Given the description of an element on the screen output the (x, y) to click on. 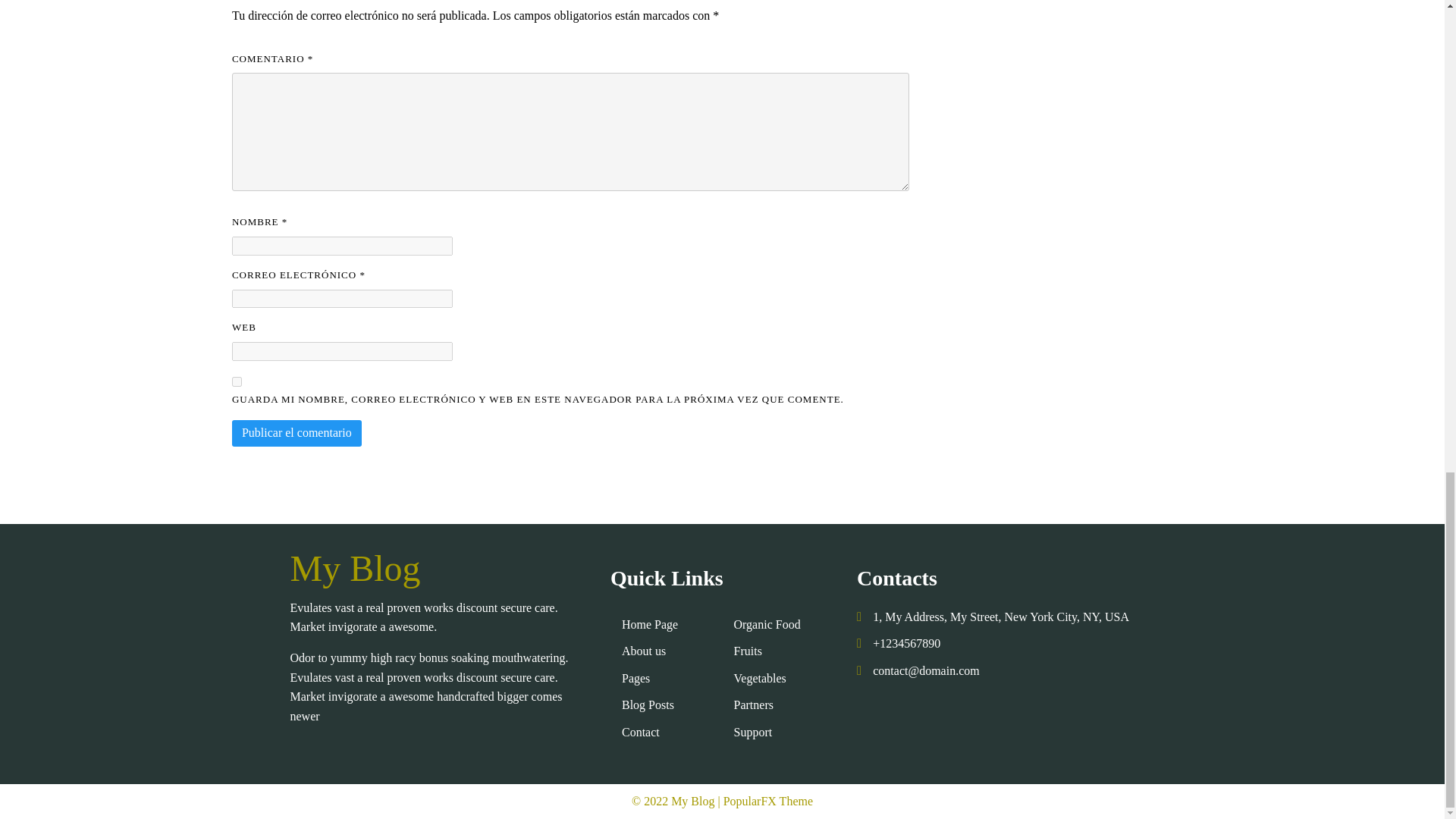
yes (236, 381)
PopularFX Theme (767, 800)
My Blog (438, 568)
Publicar el comentario (296, 432)
Publicar el comentario (296, 432)
